Given the description of an element on the screen output the (x, y) to click on. 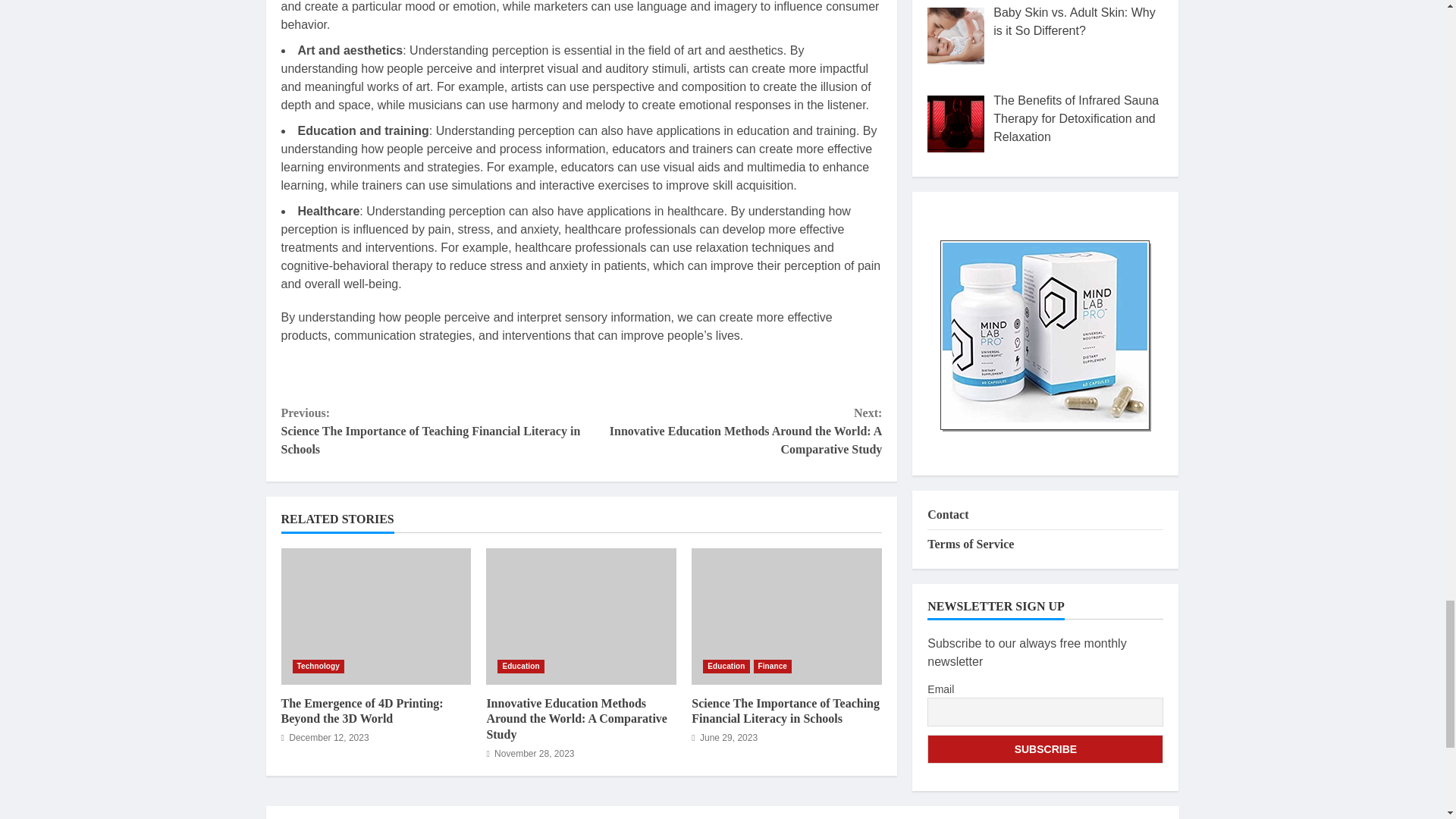
The Emergence of 4D Printing: Beyond the 3D World (361, 710)
Share on Linkedin (459, 374)
Education (726, 666)
Finance (773, 666)
Education (520, 666)
Share on Twitter (339, 374)
Technology (317, 666)
Share on Reddit (379, 374)
The Emergence of 4D Printing: Beyond the 3D World (375, 615)
Share on Facebook (299, 374)
Pin it with Pinterest (419, 374)
Share by email (499, 374)
